Given the description of an element on the screen output the (x, y) to click on. 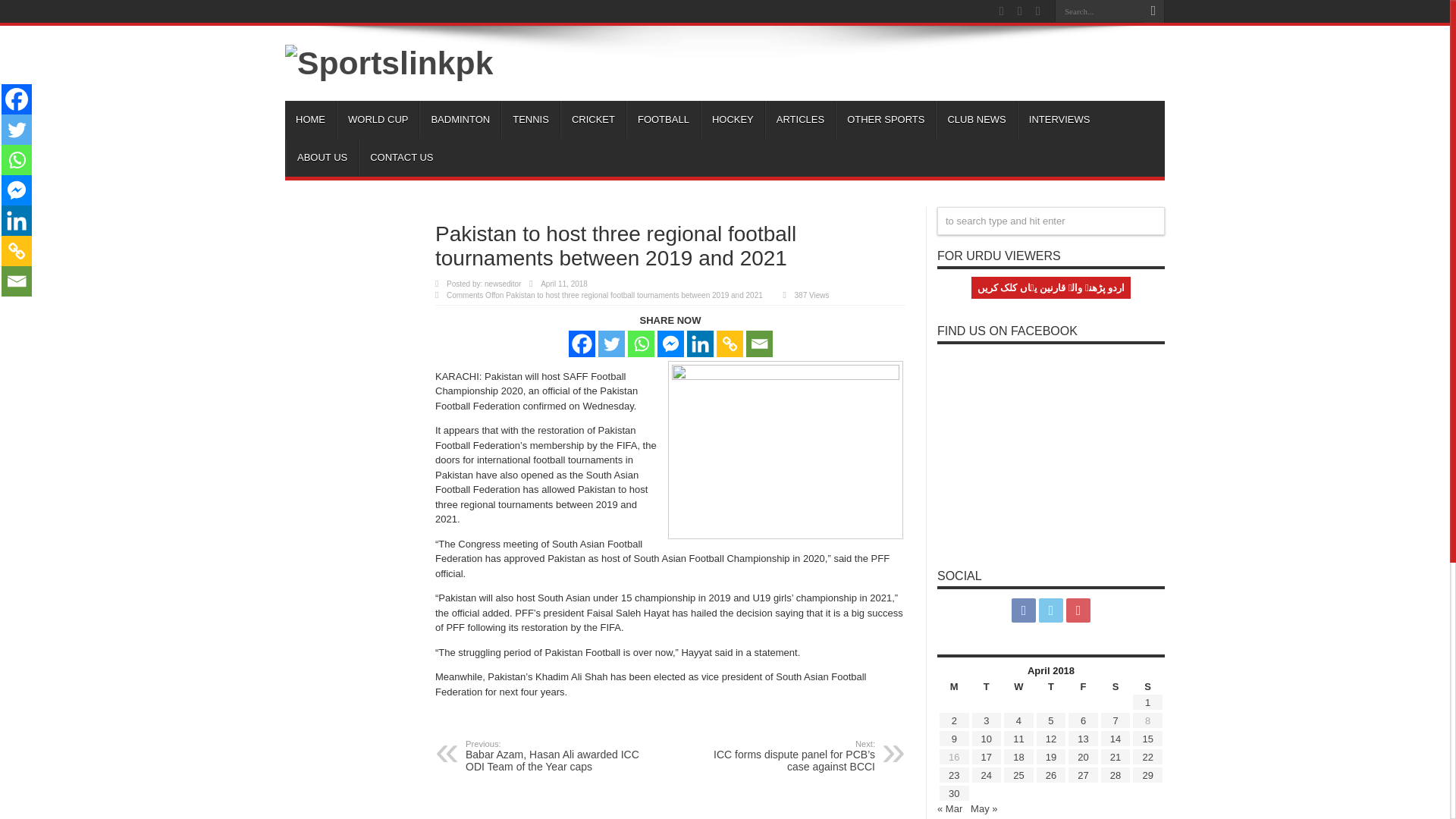
Email (16, 281)
INTERVIEWS (1058, 119)
Copy Link (16, 250)
Search (1152, 11)
ARTICLES (799, 119)
CLUB NEWS (976, 119)
Facebook (16, 99)
Twitter (16, 129)
Whatsapp (640, 343)
WORLD CUP (377, 119)
Search... (1097, 11)
CONTACT US (401, 157)
Whatsapp (16, 159)
Twitter (610, 343)
CRICKET (593, 119)
